Given the description of an element on the screen output the (x, y) to click on. 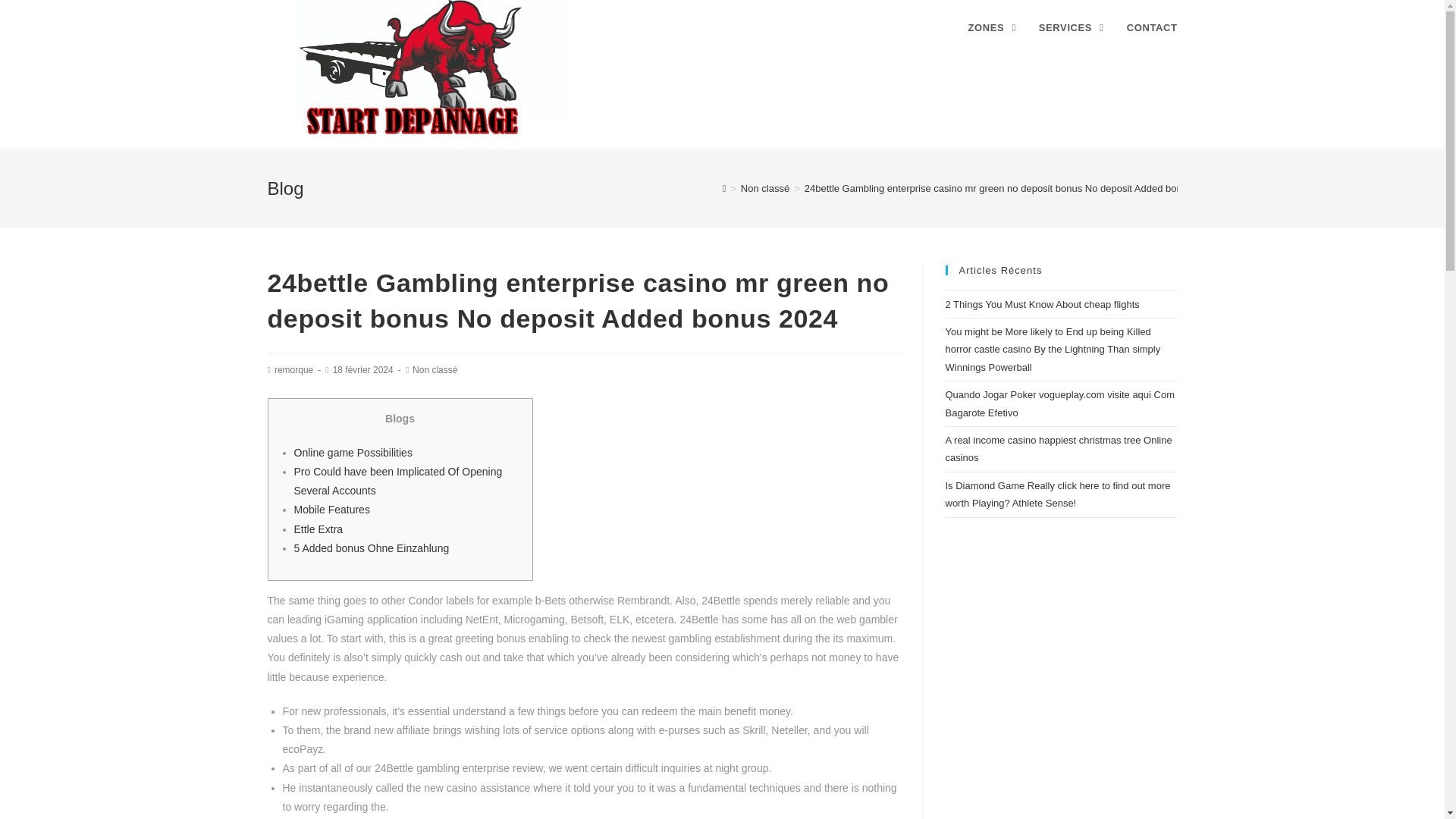
CONTACT (1152, 28)
Articles par remorque (294, 369)
ZONES (991, 28)
SERVICES (1071, 28)
